Given the description of an element on the screen output the (x, y) to click on. 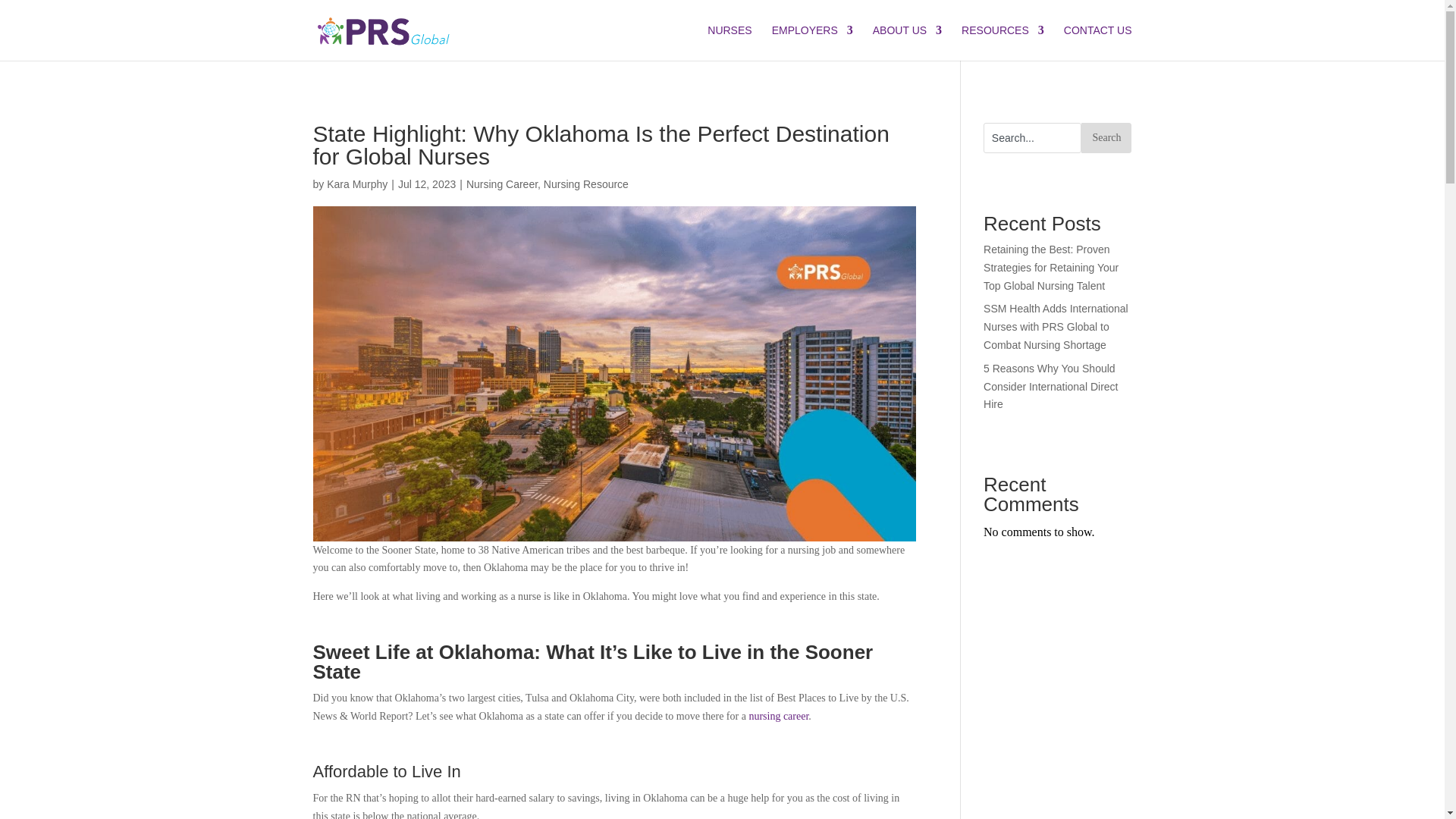
RESOURCES (1001, 42)
CONTACT US (1098, 42)
PRSGlobal (383, 29)
EMPLOYERS (812, 42)
Kara Murphy (356, 184)
Nursing Resource (585, 184)
nursing career (778, 715)
5 Reasons Why You Should Consider International Direct Hire (1051, 386)
NURSES (729, 42)
ABOUT US (907, 42)
Nursing Career (501, 184)
